Given the description of an element on the screen output the (x, y) to click on. 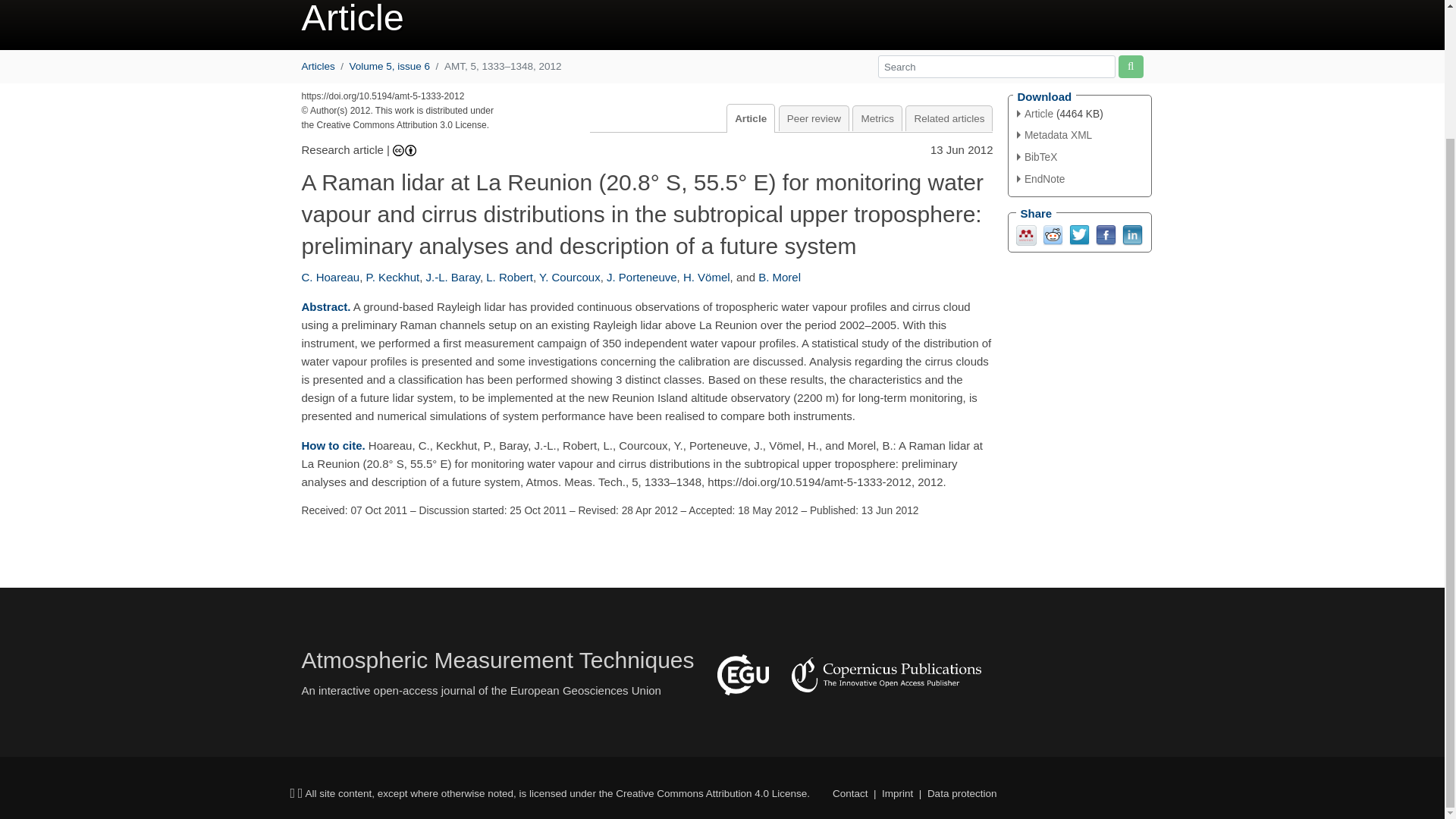
Twitter (1078, 233)
Start site search (1130, 65)
Mendeley (1026, 233)
XML Version (1054, 134)
Reddit (1052, 233)
Facebook (1104, 233)
